Given the description of an element on the screen output the (x, y) to click on. 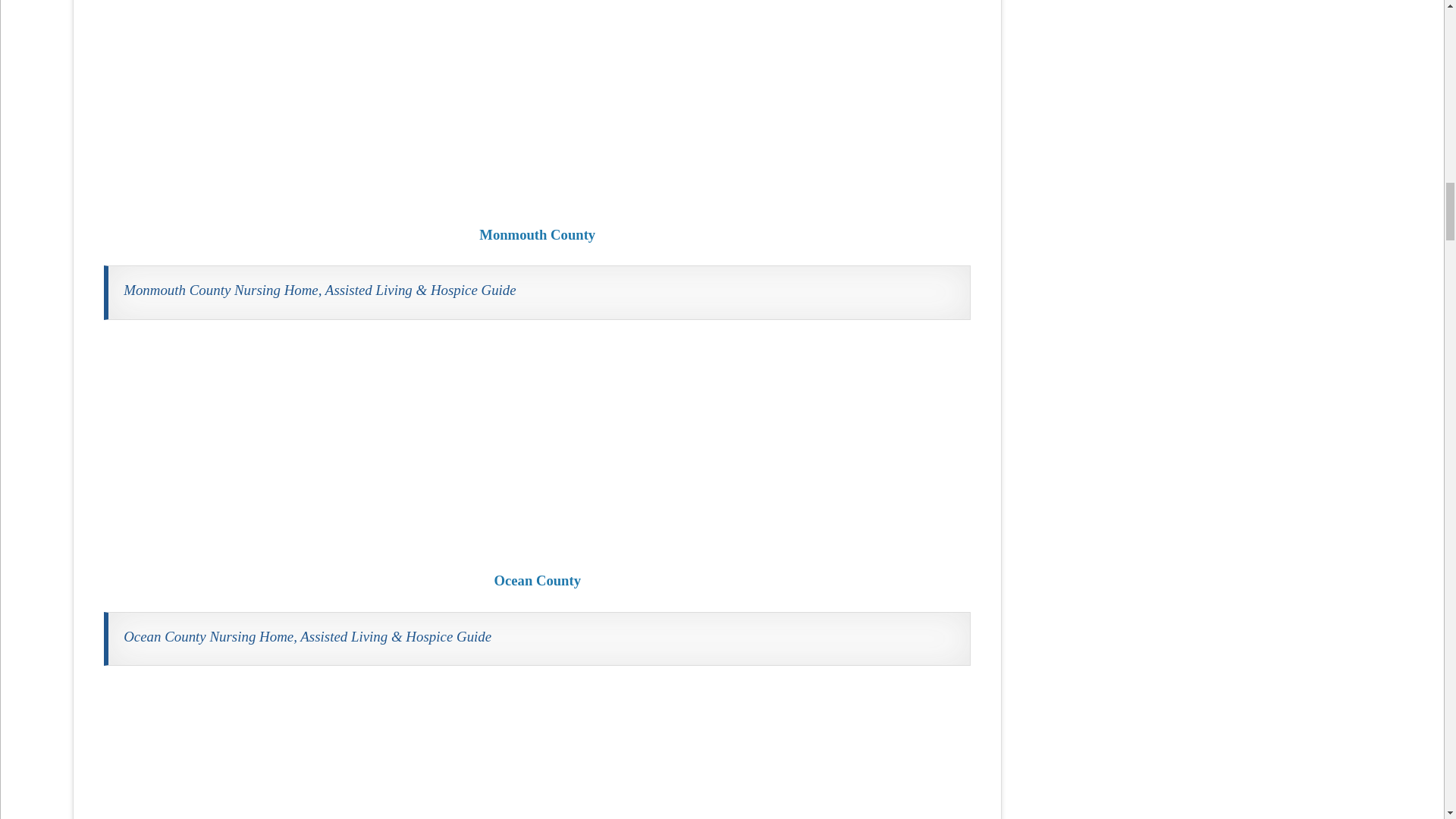
Middlesex County Nursing Home Guide (536, 751)
Ocean County Nursing Home Guide (536, 444)
Monmouth County Nursing Home Guide (536, 102)
